Given the description of an element on the screen output the (x, y) to click on. 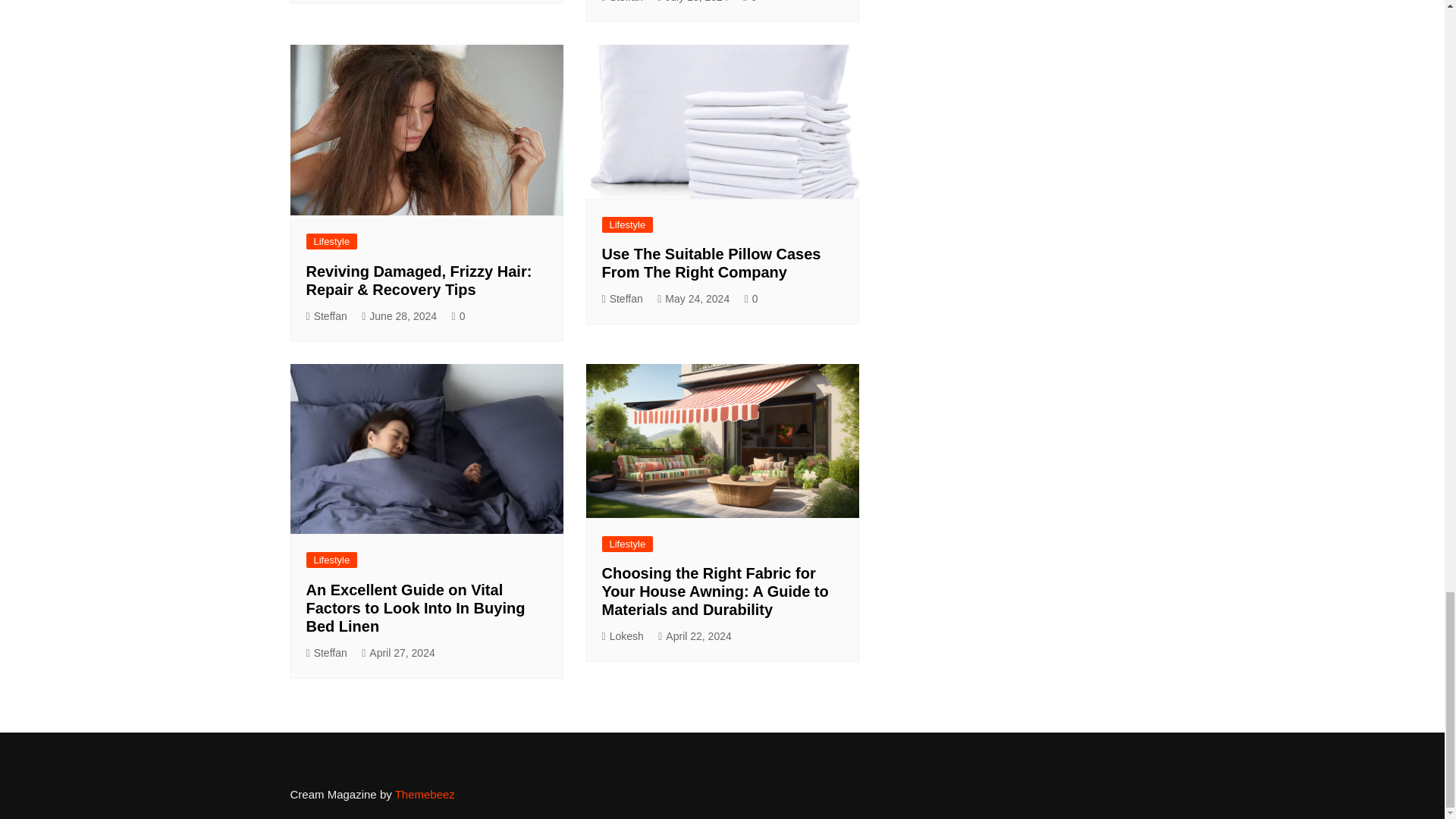
Steffan (326, 316)
Steffan (622, 2)
0 (749, 2)
July 15, 2024 (693, 2)
Lifestyle (331, 241)
